Given the description of an element on the screen output the (x, y) to click on. 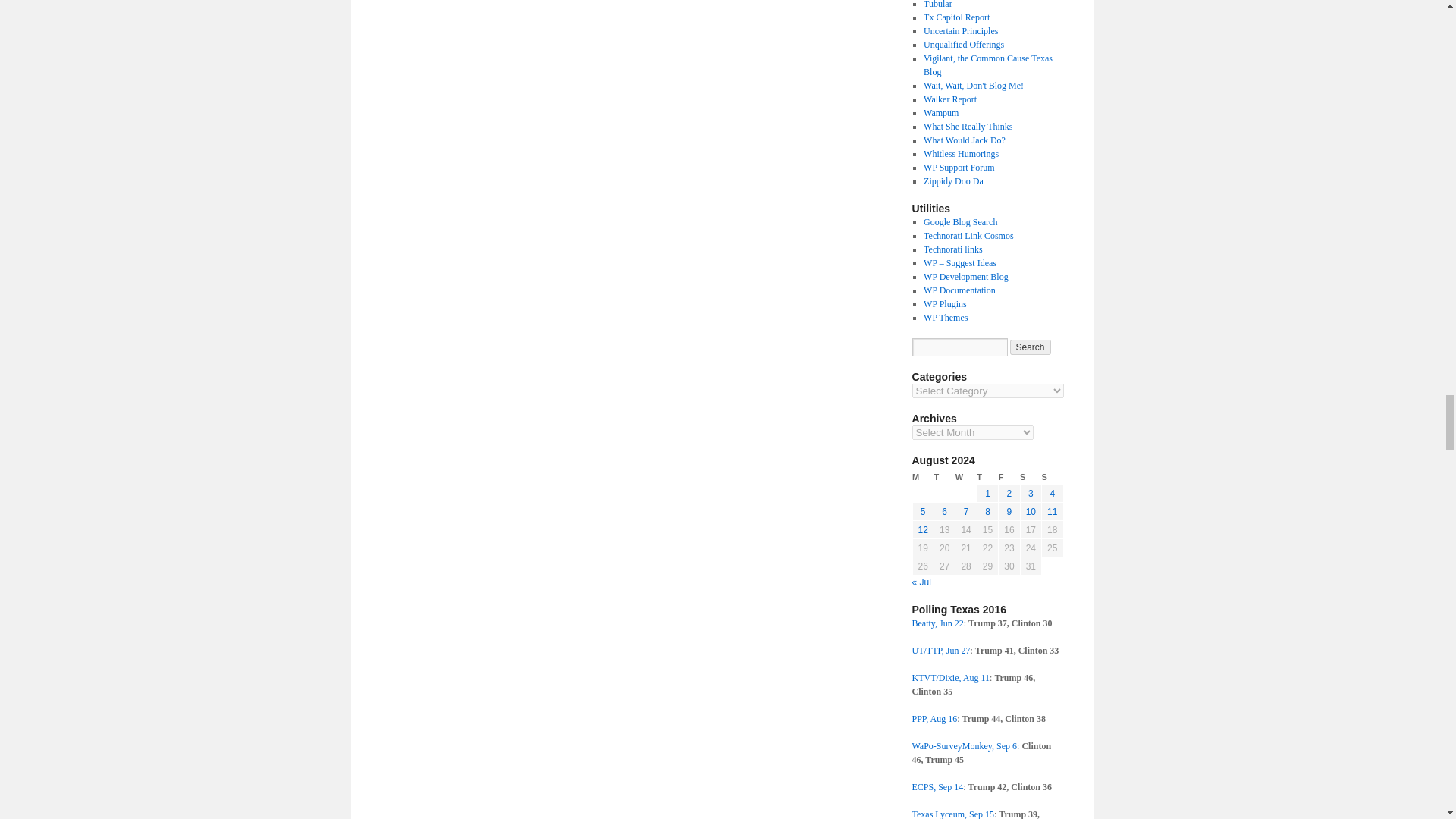
Monday (922, 477)
Search (1030, 346)
Tuesday (944, 477)
Wednesday (965, 477)
